Given the description of an element on the screen output the (x, y) to click on. 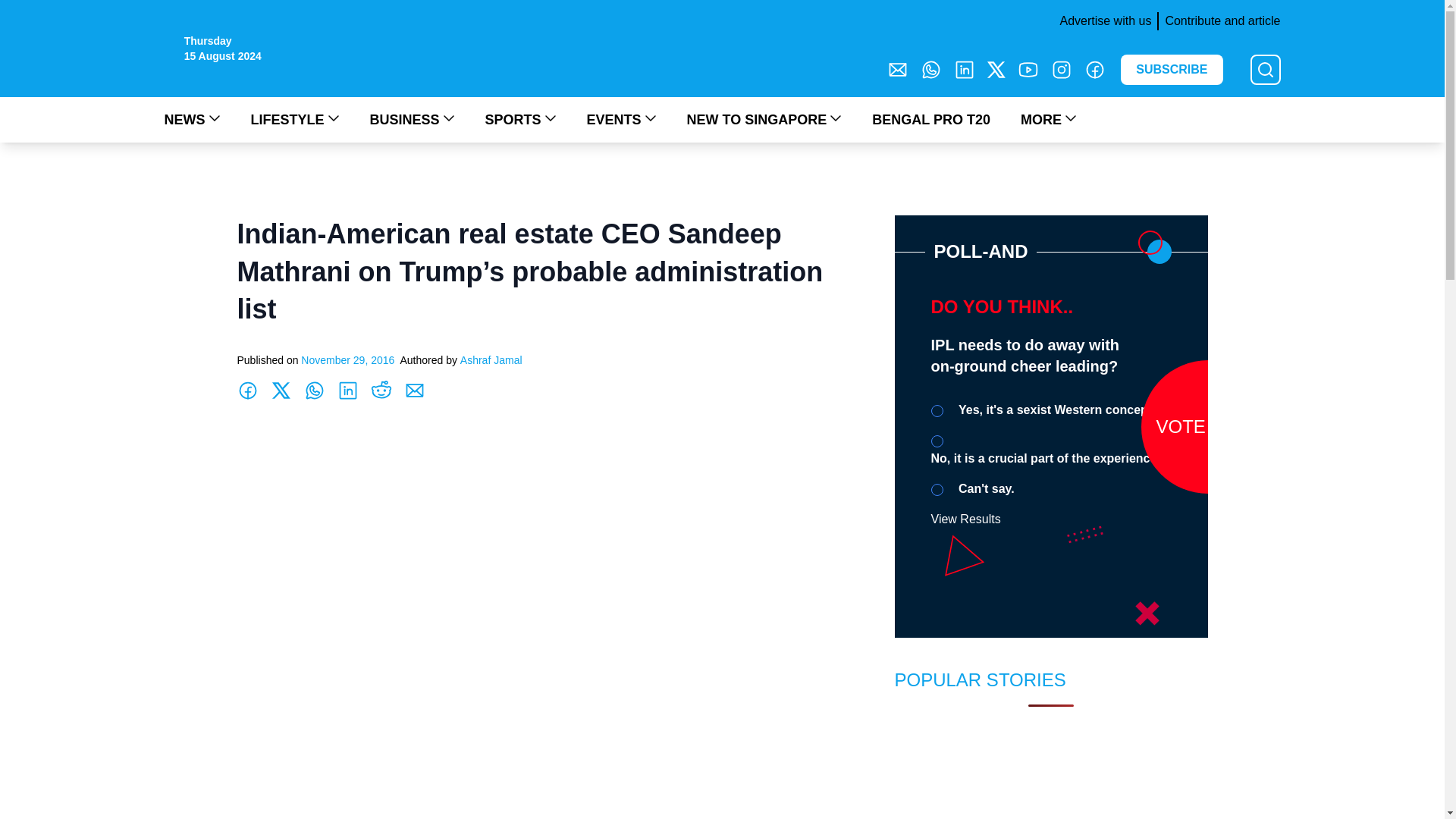
Contribute and article (1218, 21)
40 (937, 440)
LIFESTYLE (294, 119)
Email us (897, 69)
Whatsapp (931, 69)
NEWS (191, 119)
View Results Of This Poll (966, 518)
Advertise with us (1101, 21)
SUBSCRIBE (1172, 69)
41 (937, 490)
